Given the description of an element on the screen output the (x, y) to click on. 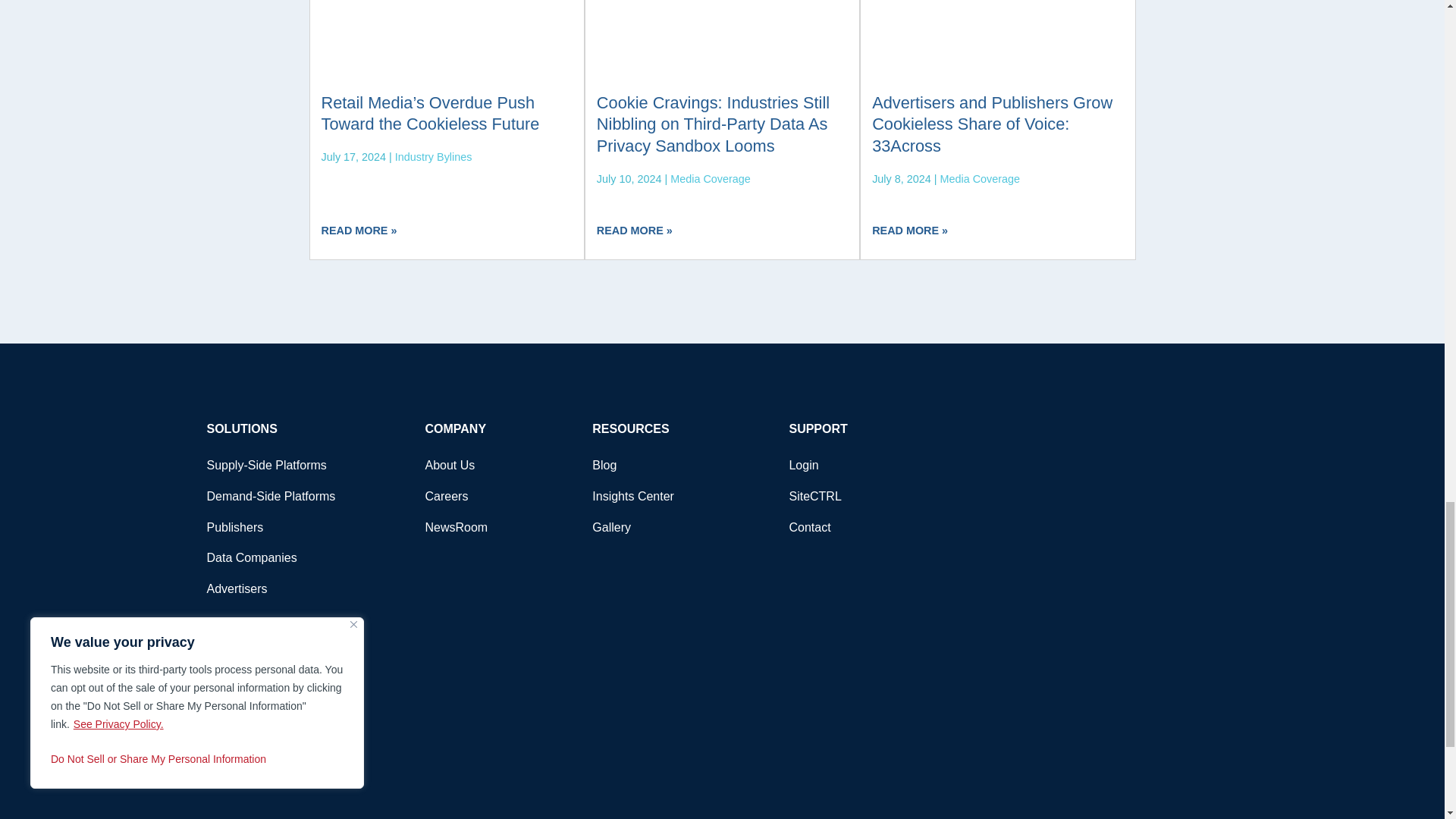
Media Coverage (980, 178)
Media Coverage (710, 178)
Industry Bylines (432, 156)
